Given the description of an element on the screen output the (x, y) to click on. 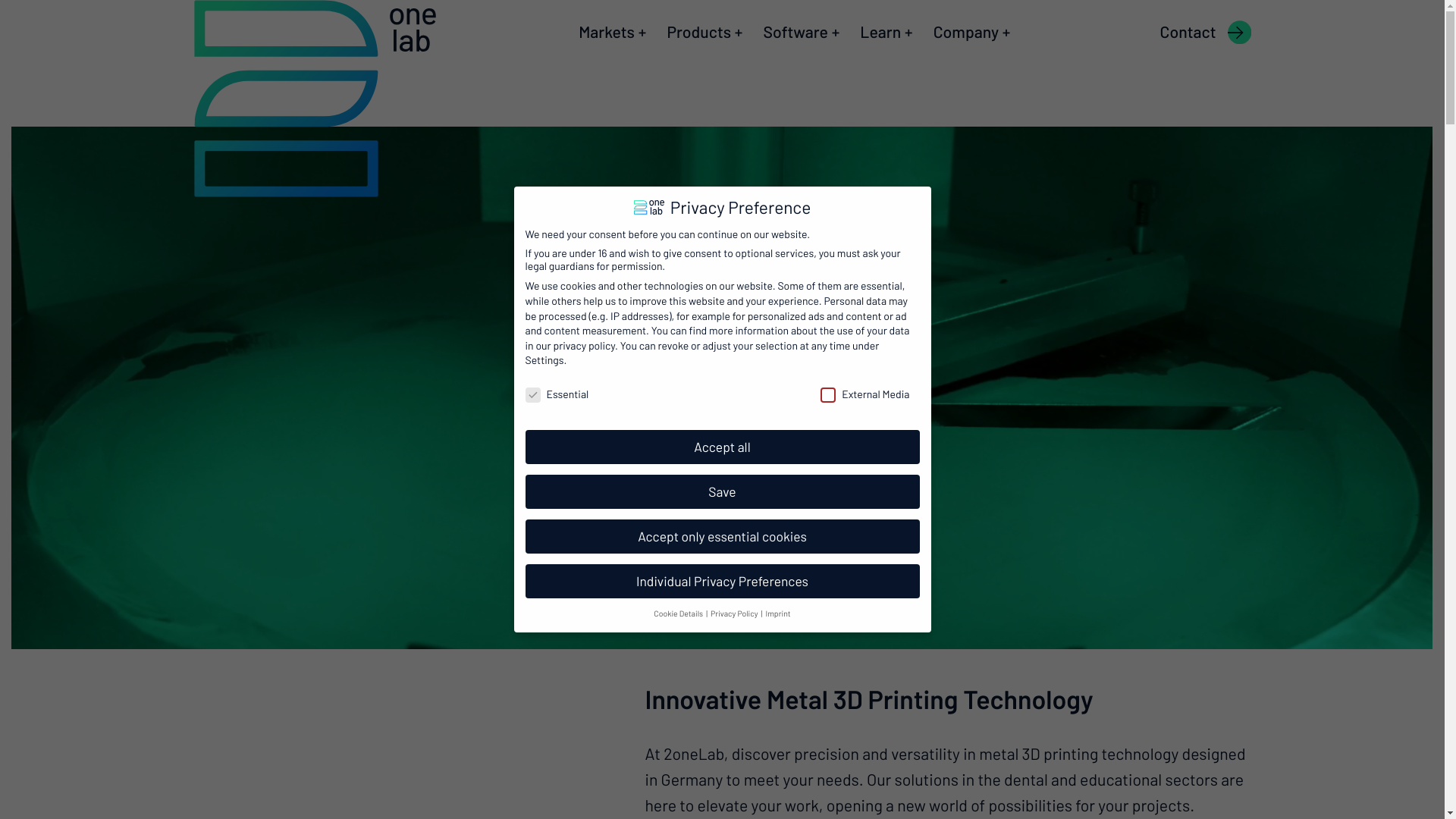
Markets Element type: text (606, 32)
Products Element type: text (698, 32)
Accept only essential cookies Element type: text (721, 536)
Individual Privacy Preferences Element type: text (721, 581)
Software Element type: text (795, 32)
privacy policy Element type: text (583, 344)
Accept all Element type: text (721, 446)
Company Element type: text (965, 32)
Save Element type: text (721, 491)
Cookie Details Element type: text (678, 613)
Settings Element type: text (543, 359)
Privacy Policy Element type: text (734, 613)
Contact Element type: text (1188, 32)
Learn Element type: text (879, 32)
Imprint Element type: text (777, 613)
